Given the description of an element on the screen output the (x, y) to click on. 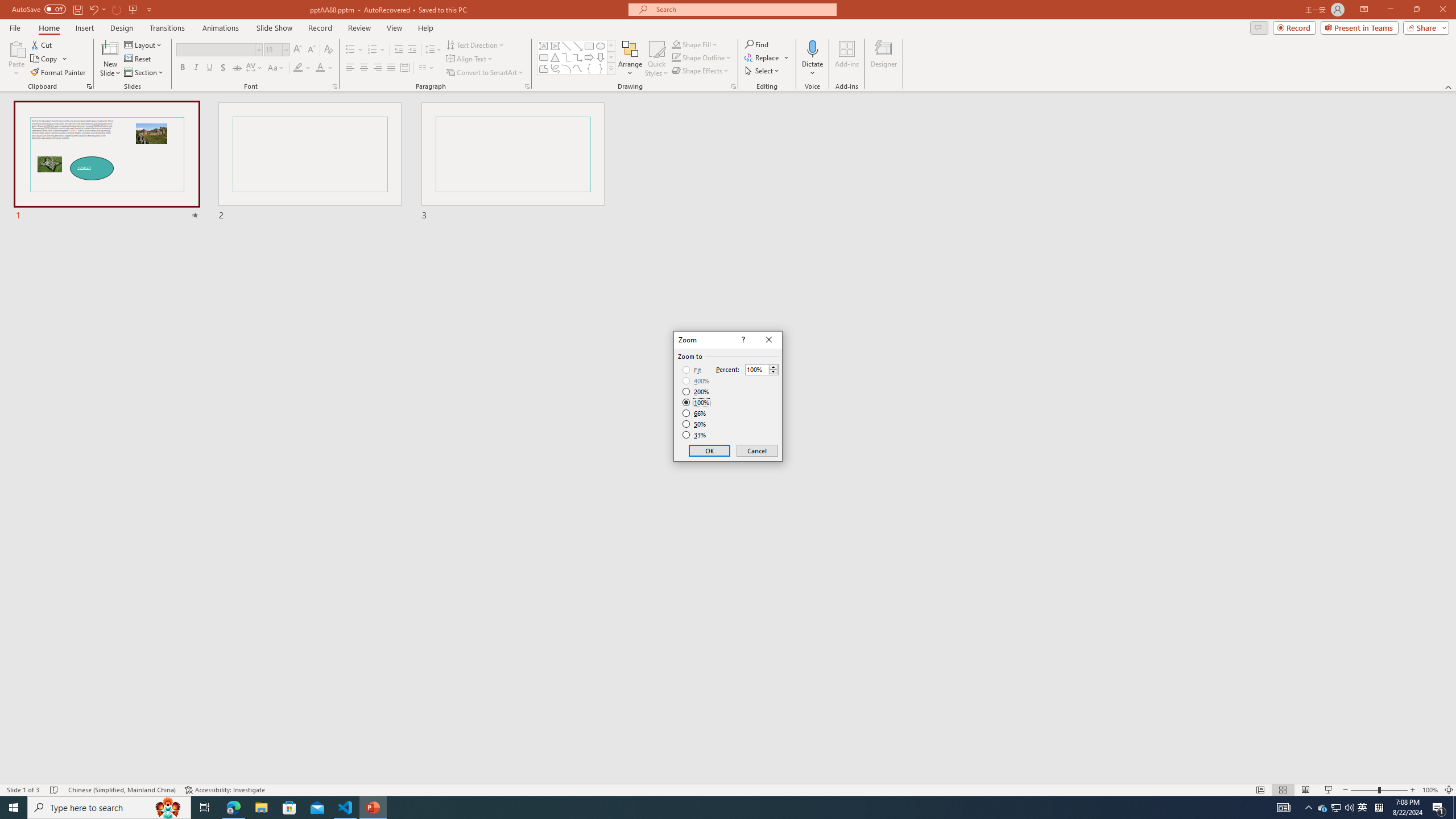
Action Center, 1 new notification (1439, 807)
